Given the description of an element on the screen output the (x, y) to click on. 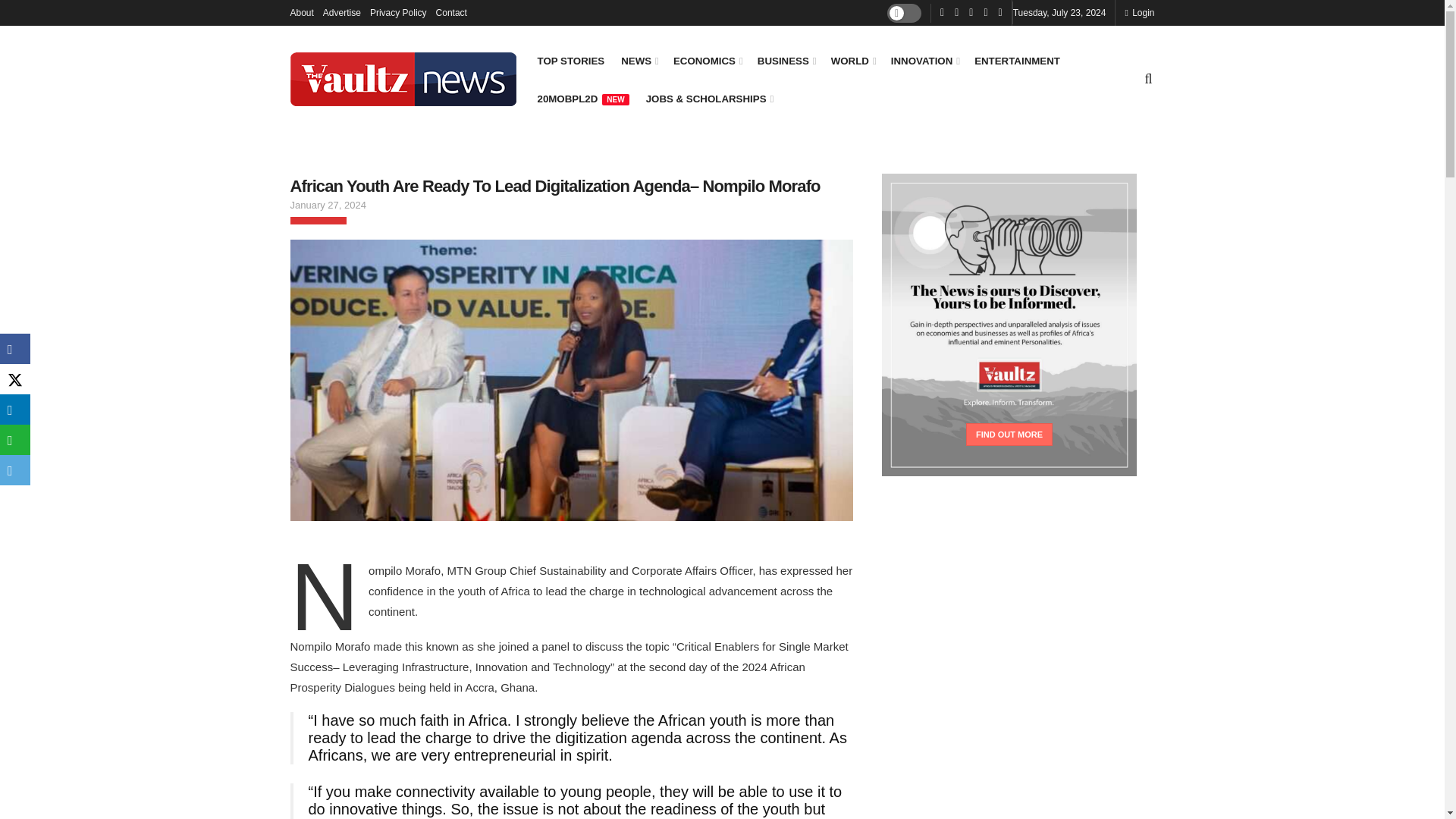
Contact (451, 12)
FIND OUT MORE (1009, 434)
NEWS (638, 60)
About (301, 12)
Login (1139, 12)
ECONOMICS (706, 60)
WORLD (853, 60)
TOP STORIES (570, 60)
BUSINESS (785, 60)
Advertise (342, 12)
INNOVATION (924, 60)
Privacy Policy (397, 12)
